Given the description of an element on the screen output the (x, y) to click on. 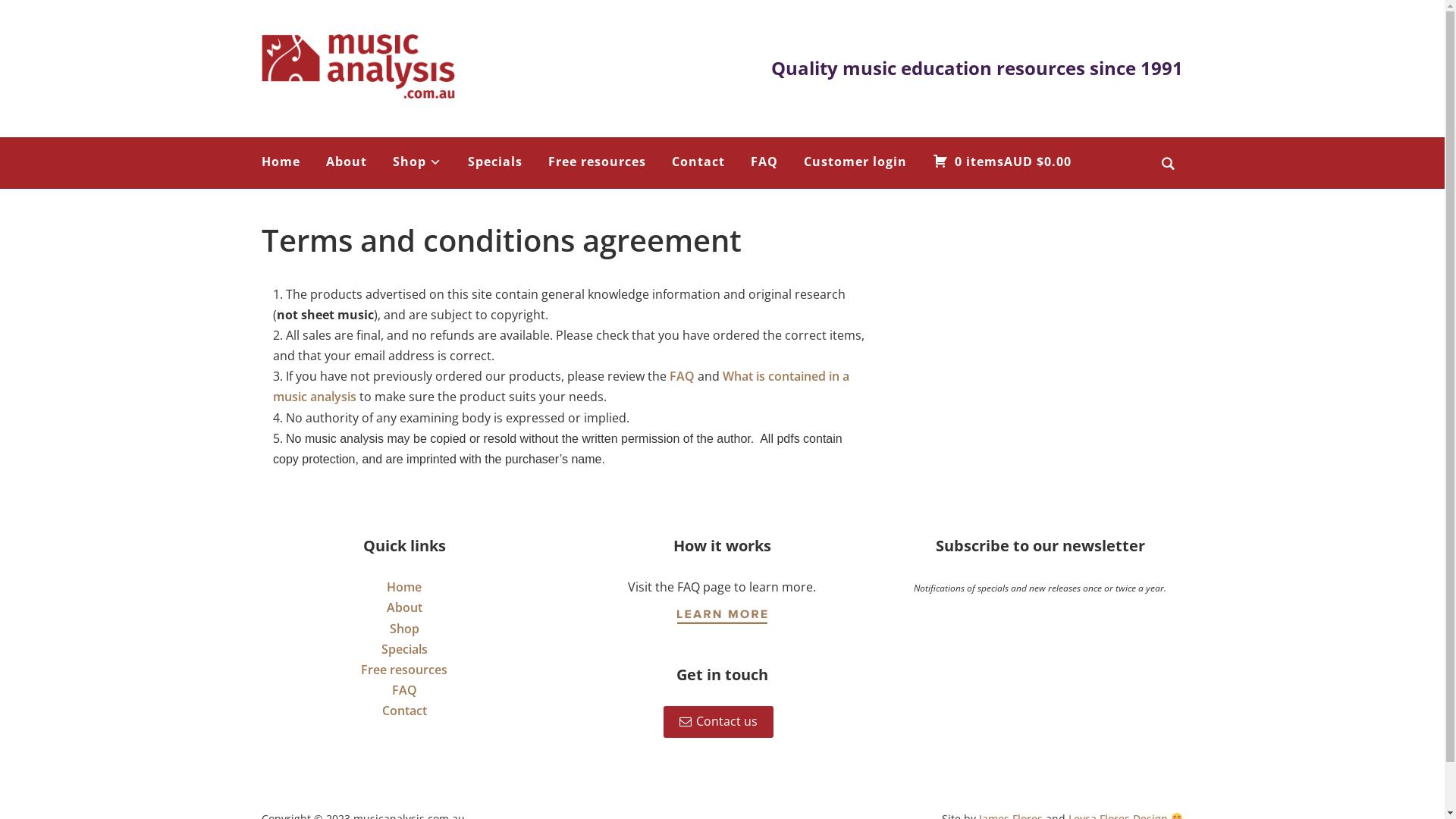
Shop Element type: text (417, 161)
Specials Element type: text (494, 161)
Specials Element type: text (404, 648)
Shop Element type: text (404, 628)
FAQ Element type: text (681, 375)
Home Element type: text (280, 161)
About Element type: text (404, 607)
What is contained in a music analysis Element type: text (561, 385)
0 itemsAUD $0.00 Element type: text (1001, 161)
Contact Element type: text (404, 710)
Home Element type: text (403, 586)
Search Element type: text (1167, 163)
FAQ Element type: text (764, 161)
Customer login Element type: text (854, 161)
About Element type: text (346, 161)
Contact us Element type: text (718, 721)
Free resources Element type: text (597, 161)
FAQ Element type: text (404, 689)
Free resources Element type: text (403, 669)
Contact Element type: text (697, 161)
